Given the description of an element on the screen output the (x, y) to click on. 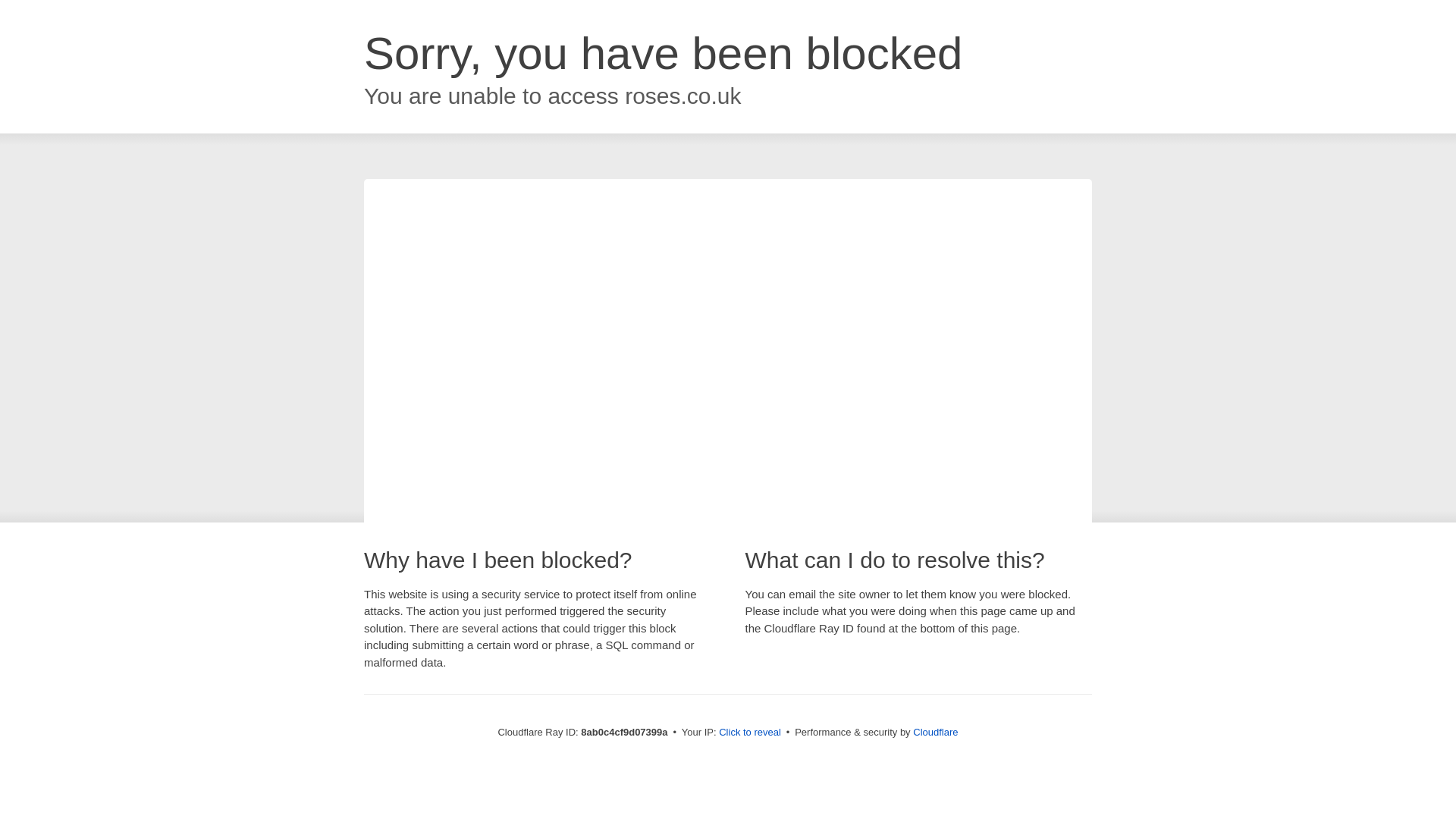
Click to reveal (749, 732)
Cloudflare (935, 731)
